Given the description of an element on the screen output the (x, y) to click on. 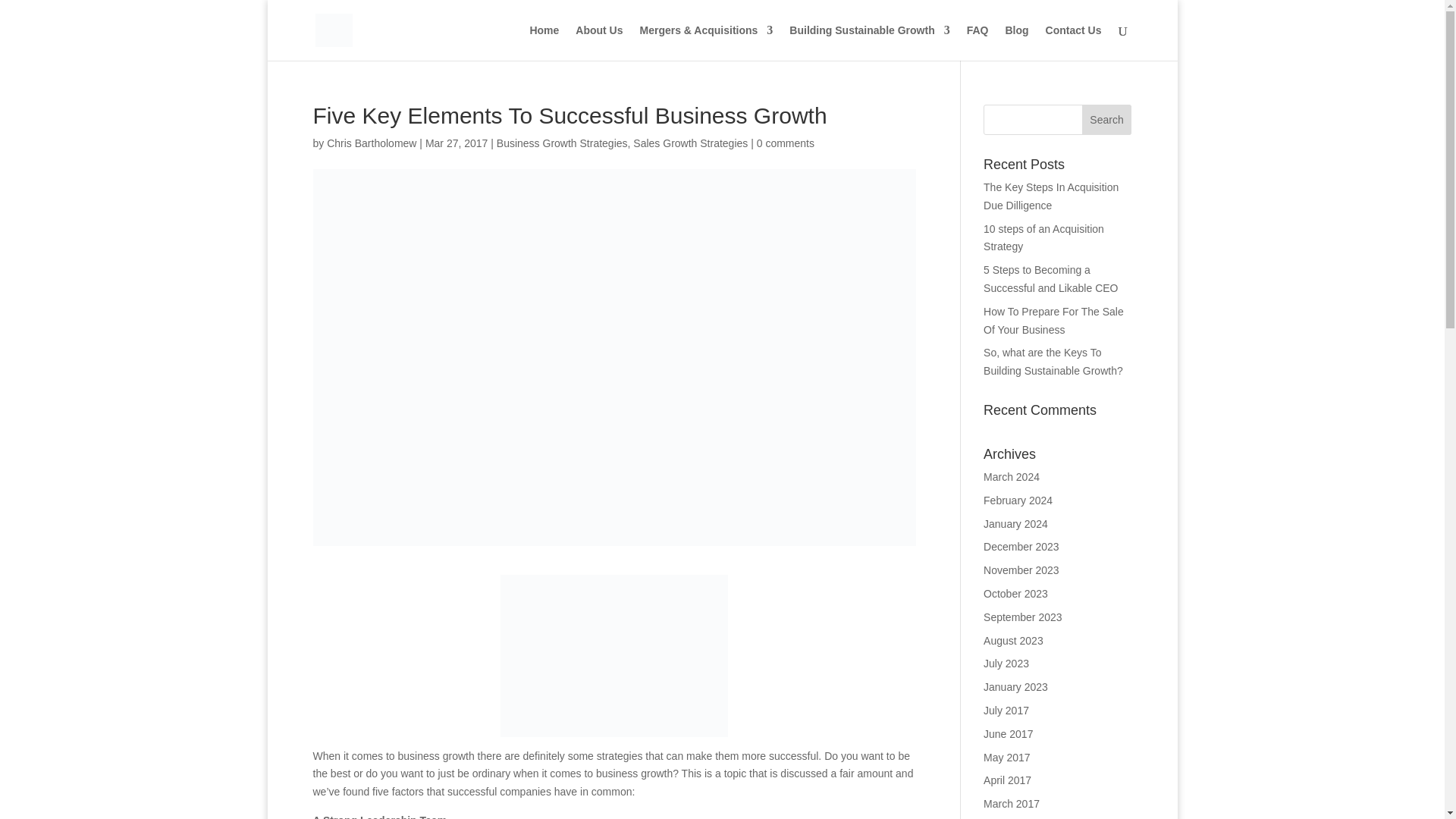
Building Sustainable Growth (869, 42)
So, what are the Keys To Building Sustainable Growth? (1053, 361)
March 2024 (1011, 476)
10 steps of an Acquisition Strategy (1043, 237)
Chris Bartholomew (371, 143)
October 2023 (1016, 593)
Posts by Chris Bartholomew (371, 143)
Sales Growth Strategies (690, 143)
July 2023 (1006, 663)
November 2023 (1021, 570)
December 2023 (1021, 546)
September 2023 (1023, 616)
Contact Us (1073, 42)
0 comments (785, 143)
January 2024 (1016, 523)
